Given the description of an element on the screen output the (x, y) to click on. 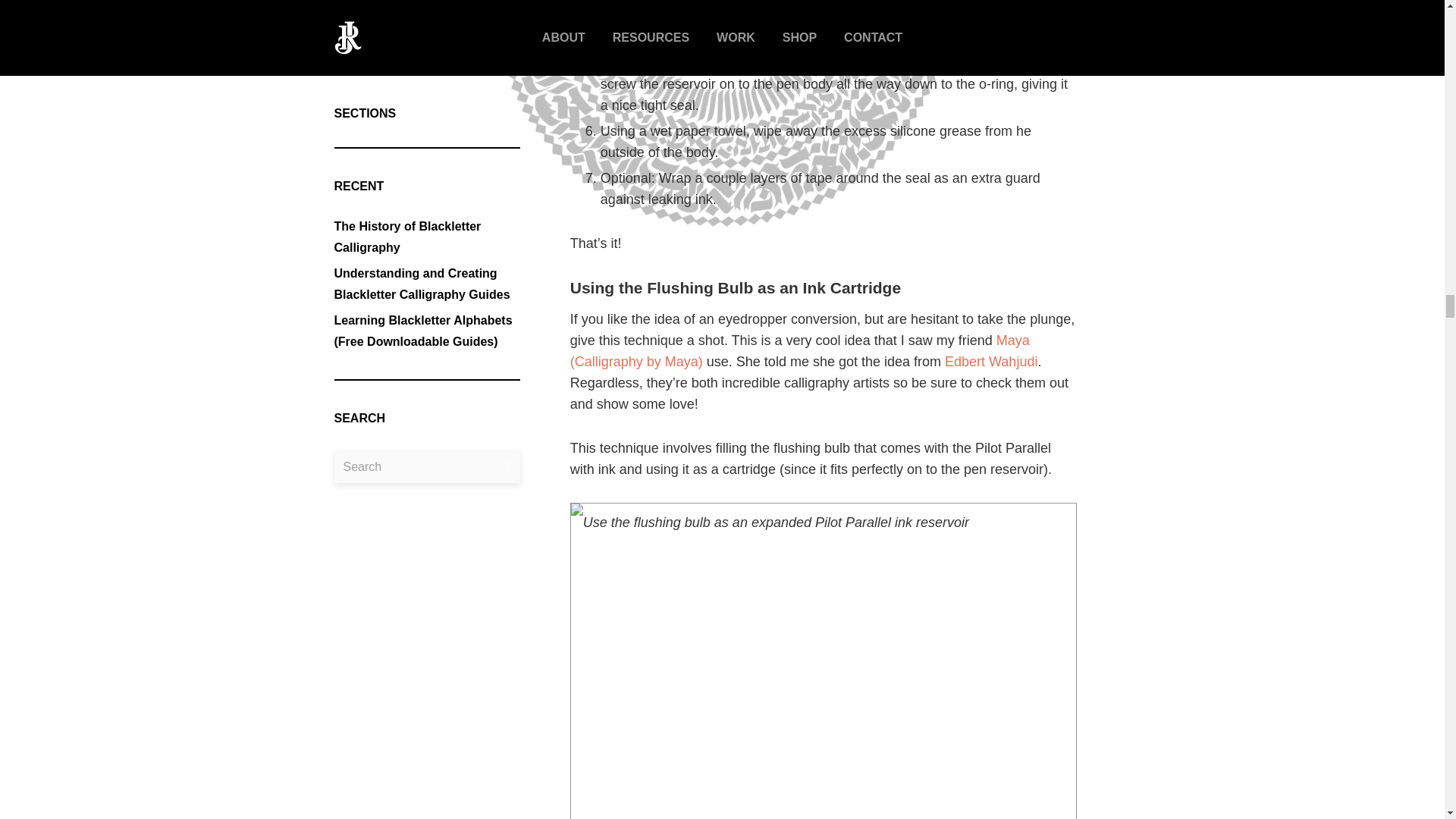
Edbert Wahjudi (990, 361)
